Given the description of an element on the screen output the (x, y) to click on. 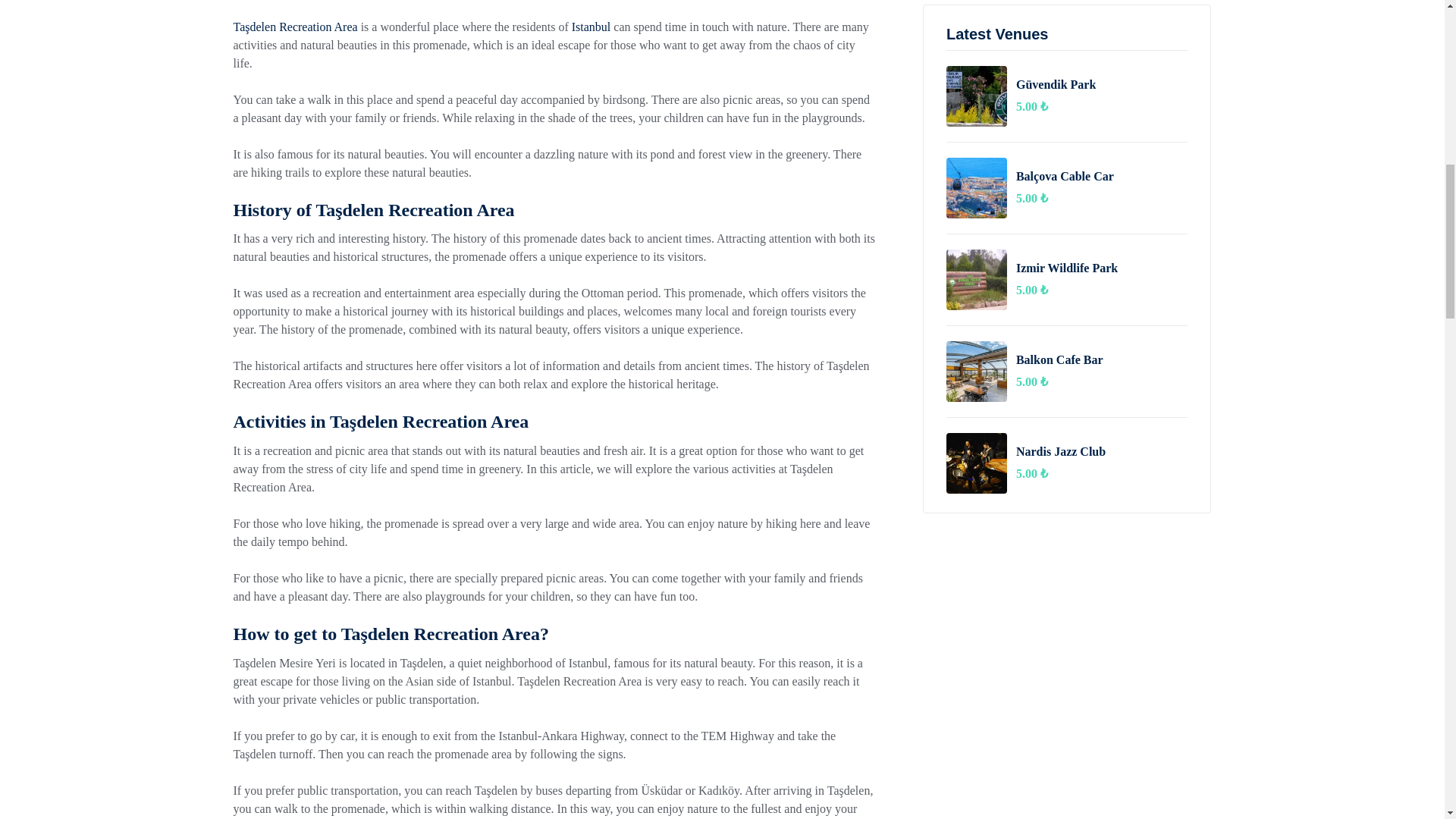
Istanbul (591, 26)
